Given the description of an element on the screen output the (x, y) to click on. 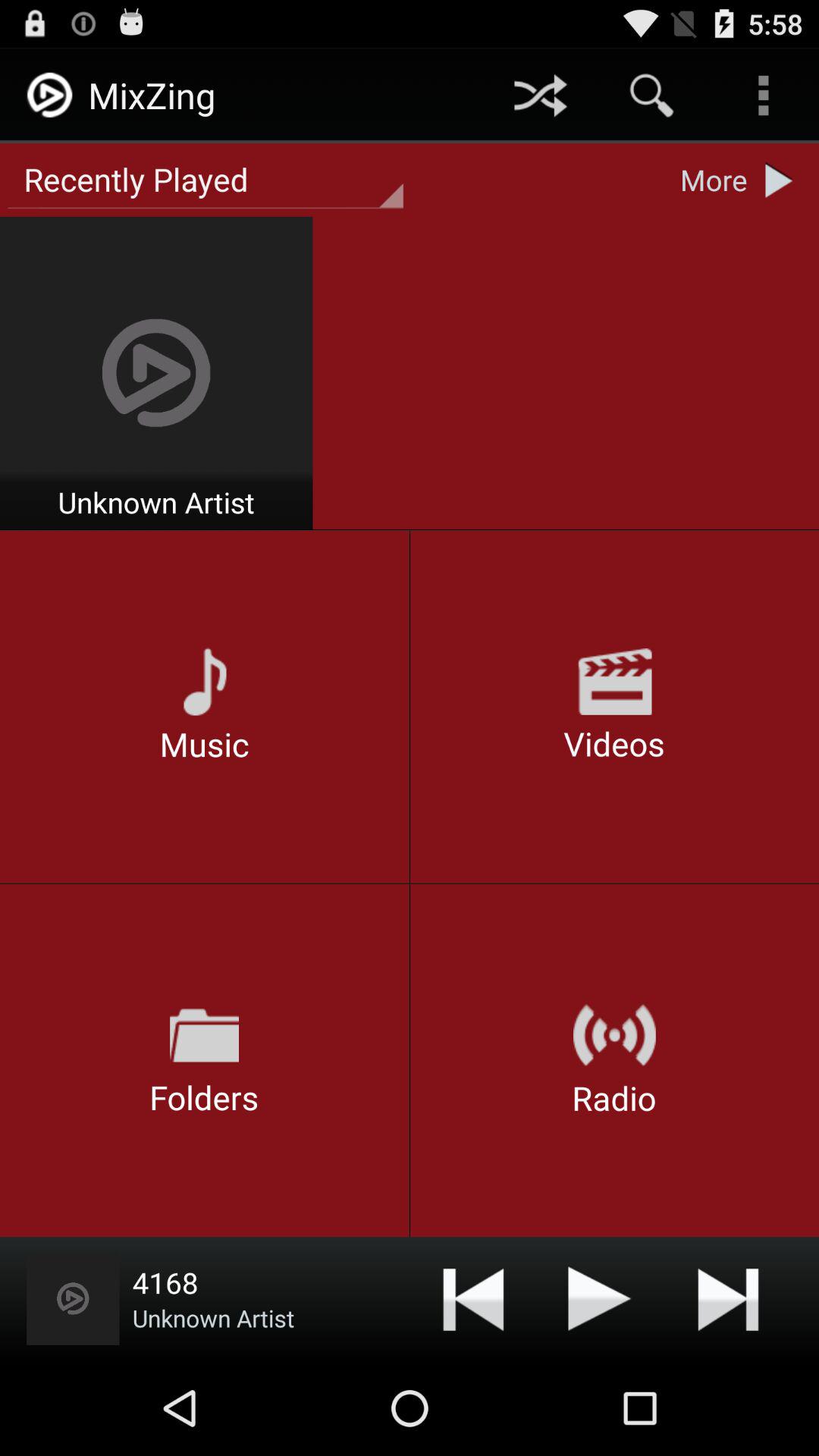
more option (783, 179)
